Given the description of an element on the screen output the (x, y) to click on. 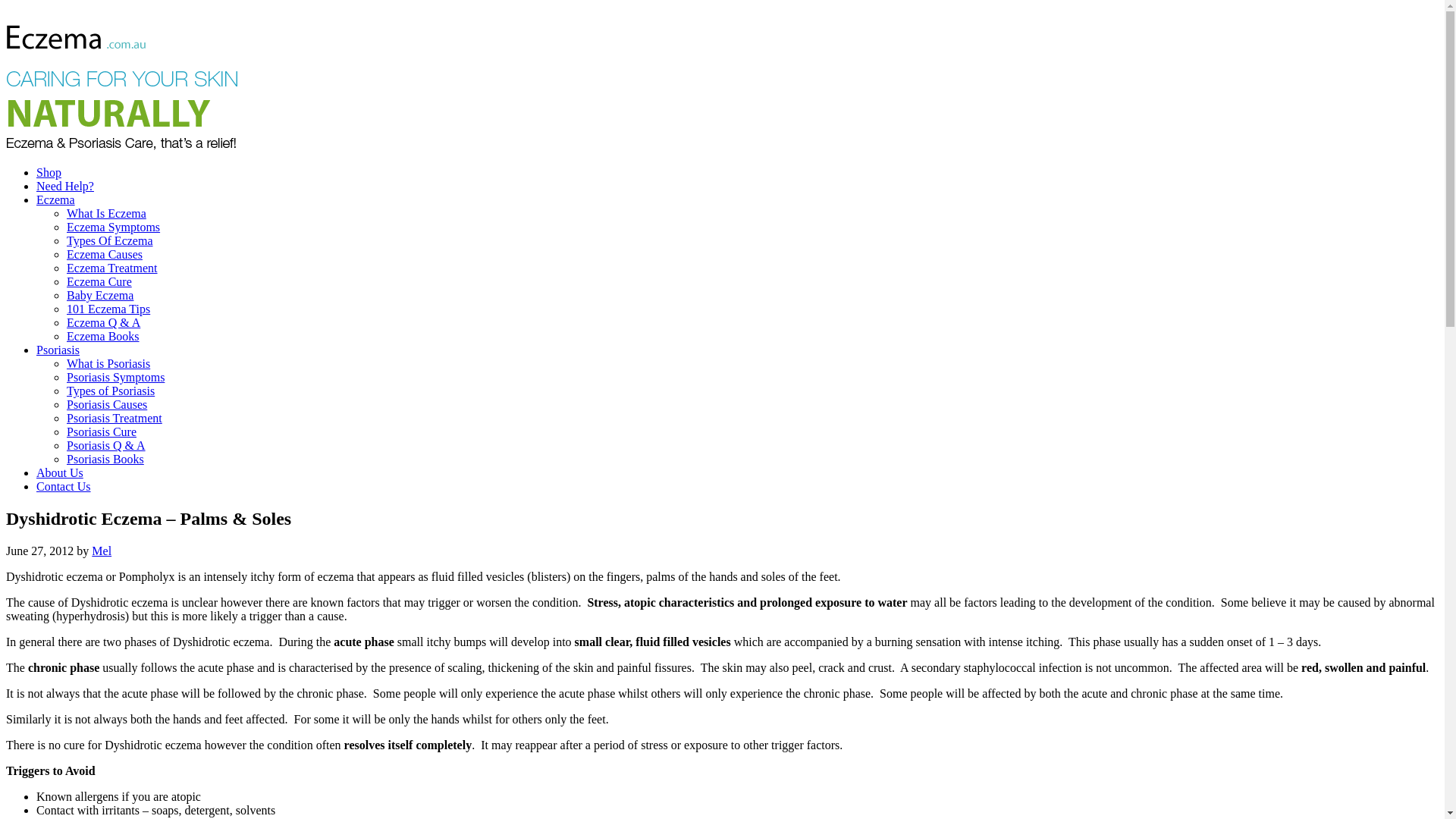
Psoriasis Cure Element type: text (101, 431)
Types of Psoriasis Element type: text (110, 390)
Shop Element type: text (48, 172)
Psoriasis Symptoms Element type: text (115, 376)
Types Of Eczema Element type: text (109, 240)
Psoriasis Treatment Element type: text (114, 417)
Contact Us Element type: text (63, 486)
Eczema Q & A Element type: text (103, 322)
Psoriasis Q & A Element type: text (105, 445)
Psoriasis Element type: text (57, 349)
What Is Eczema Element type: text (106, 213)
What is Psoriasis Element type: text (108, 363)
Psoriasis Books Element type: text (105, 458)
Eczema Symptoms Element type: text (113, 226)
Eczema Treatment Element type: text (111, 267)
Eczema Cure Element type: text (98, 281)
Eczema Treatment and Care Element type: hover (123, 146)
Psoriasis Causes Element type: text (106, 404)
101 Eczema Tips Element type: text (108, 308)
Mel Element type: text (101, 550)
Eczema Causes Element type: text (104, 253)
Need Help? Element type: text (65, 185)
Eczema Books Element type: text (102, 335)
Baby Eczema Element type: text (99, 294)
Eczema Element type: text (55, 199)
About Us Element type: text (59, 472)
